Given the description of an element on the screen output the (x, y) to click on. 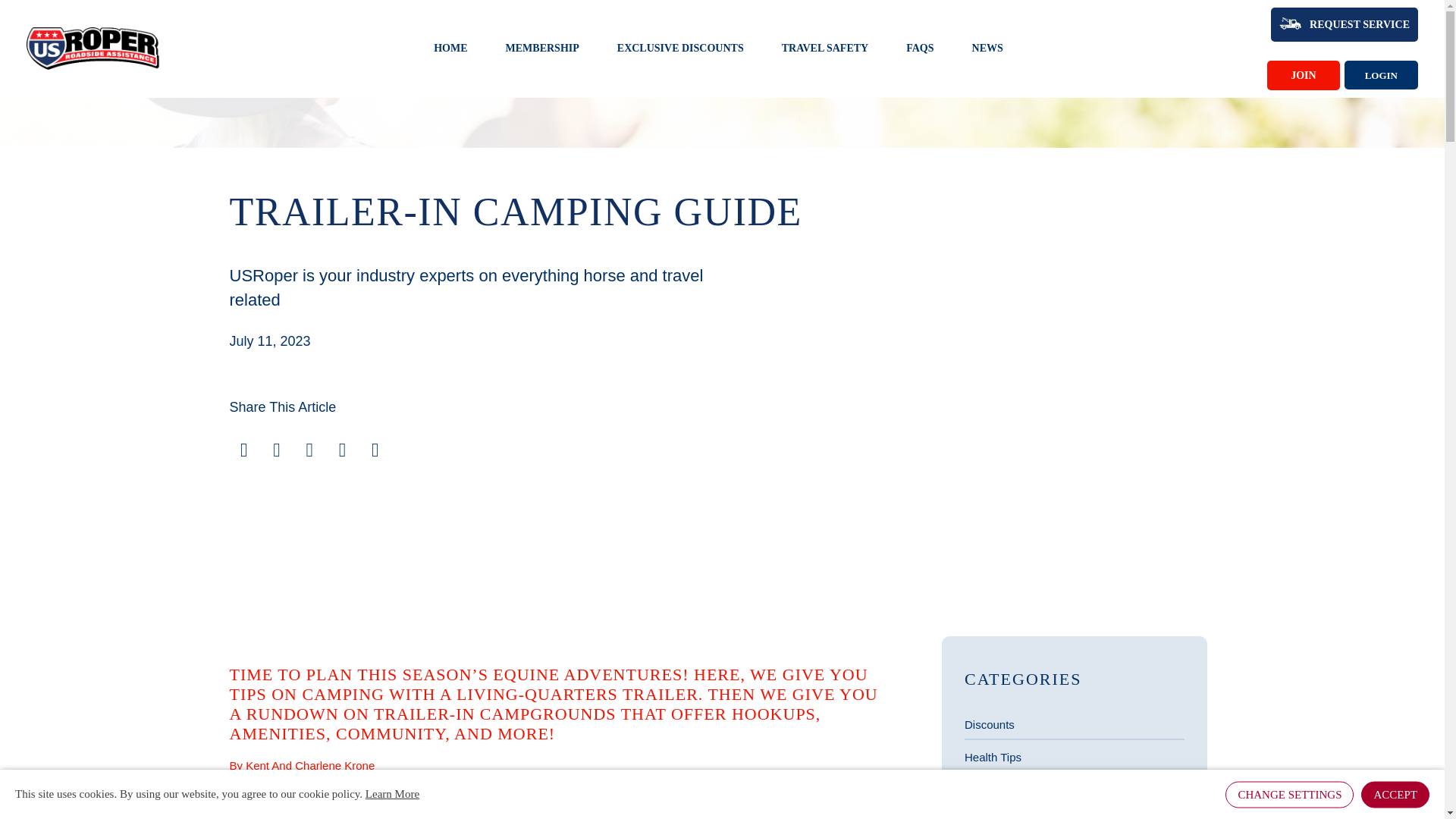
FAQS (919, 48)
NEWS (987, 48)
LOGIN (1380, 74)
HOME (450, 48)
MEMBERSHIP (542, 48)
TRAVEL SAFETY (825, 48)
EXCLUSIVE DISCOUNTS (680, 48)
JOIN (1302, 75)
